Given the description of an element on the screen output the (x, y) to click on. 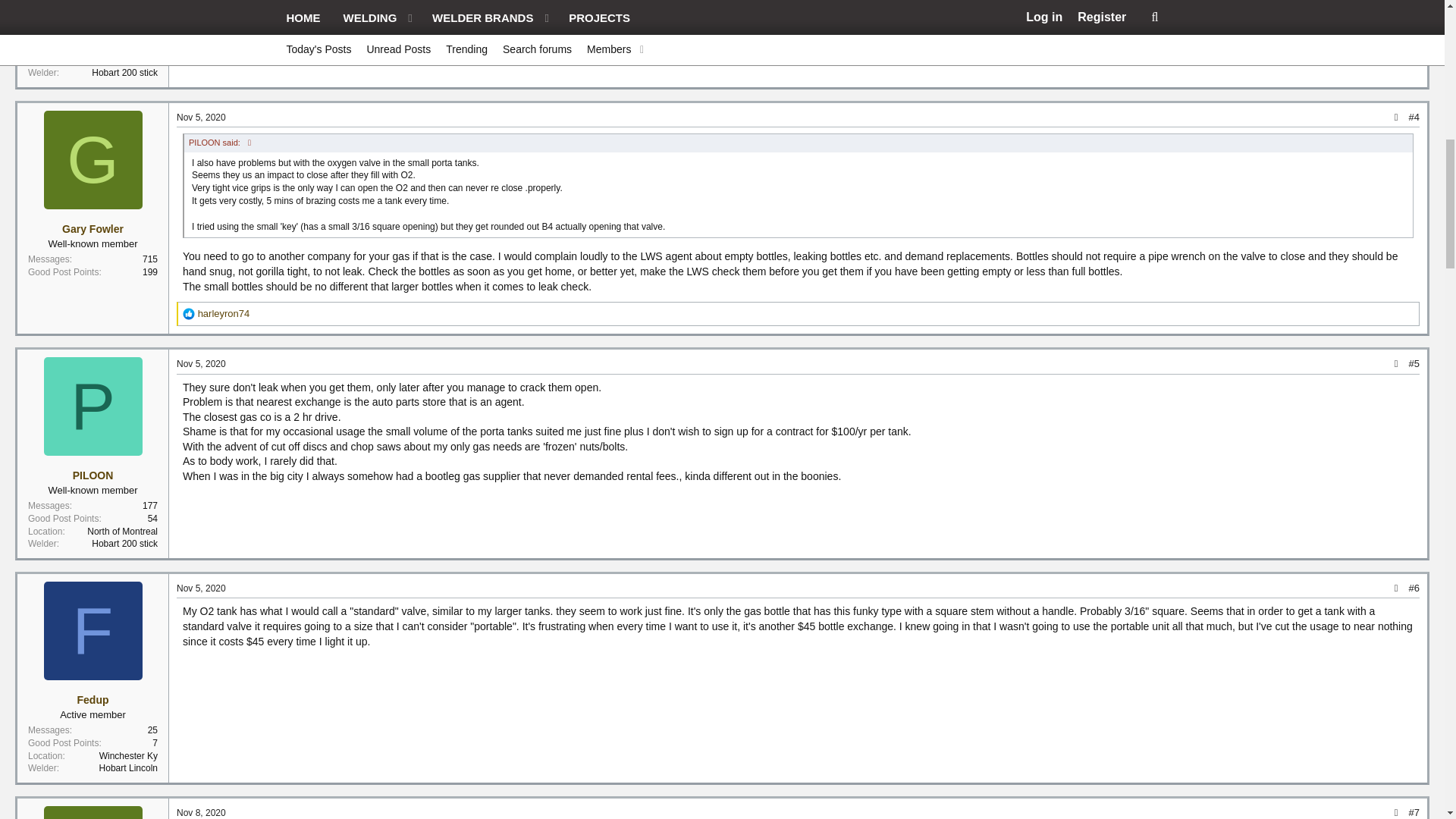
Good Post (189, 313)
Nov 5, 2020 at 6:26 AM (200, 588)
Nov 5, 2020 at 4:08 AM (200, 117)
Nov 5, 2020 at 4:46 AM (200, 363)
Nov 8, 2020 at 4:53 AM (200, 812)
